Given the description of an element on the screen output the (x, y) to click on. 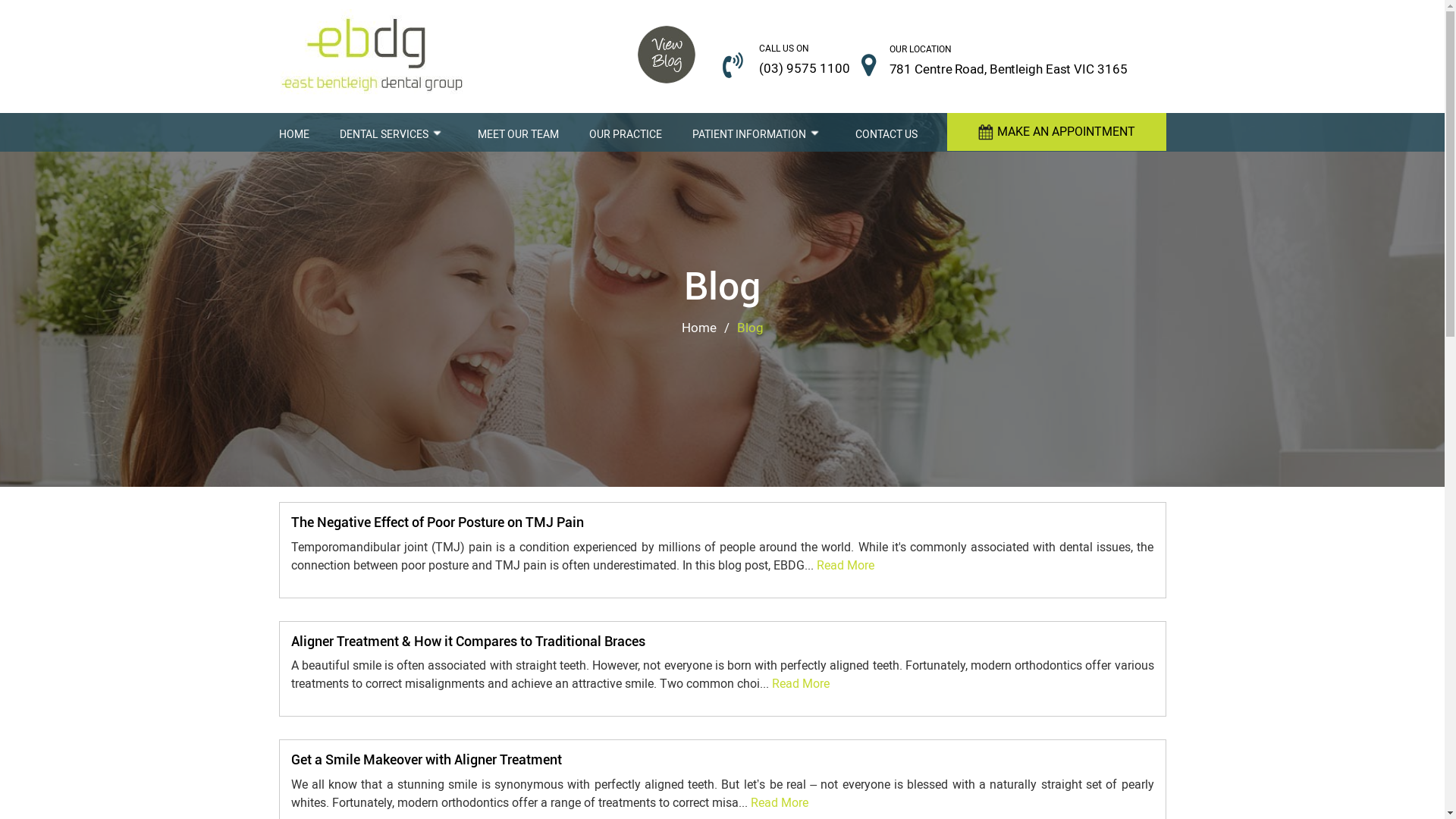
Home Element type: text (697, 327)
HOME Element type: text (294, 131)
The Negative Effect of Poor Posture on TMJ Pain Element type: text (437, 522)
(03) 9575 1100 Element type: text (803, 68)
Read More Element type: text (800, 683)
Get a Smile Makeover with Aligner Treatment Element type: text (426, 759)
Submit Element type: text (1016, 462)
Read More Element type: text (844, 565)
CONTACT US Element type: text (886, 131)
East Bentleigh Dental Group  Element type: hover (373, 55)
OUR PRACTICE Element type: text (624, 131)
Read More Element type: text (779, 802)
MEET OUR TEAM Element type: text (517, 131)
MAKE AN APPOINTMENT Element type: text (1055, 131)
Aligner Treatment & How it Compares to Traditional Braces Element type: text (468, 641)
